Given the description of an element on the screen output the (x, y) to click on. 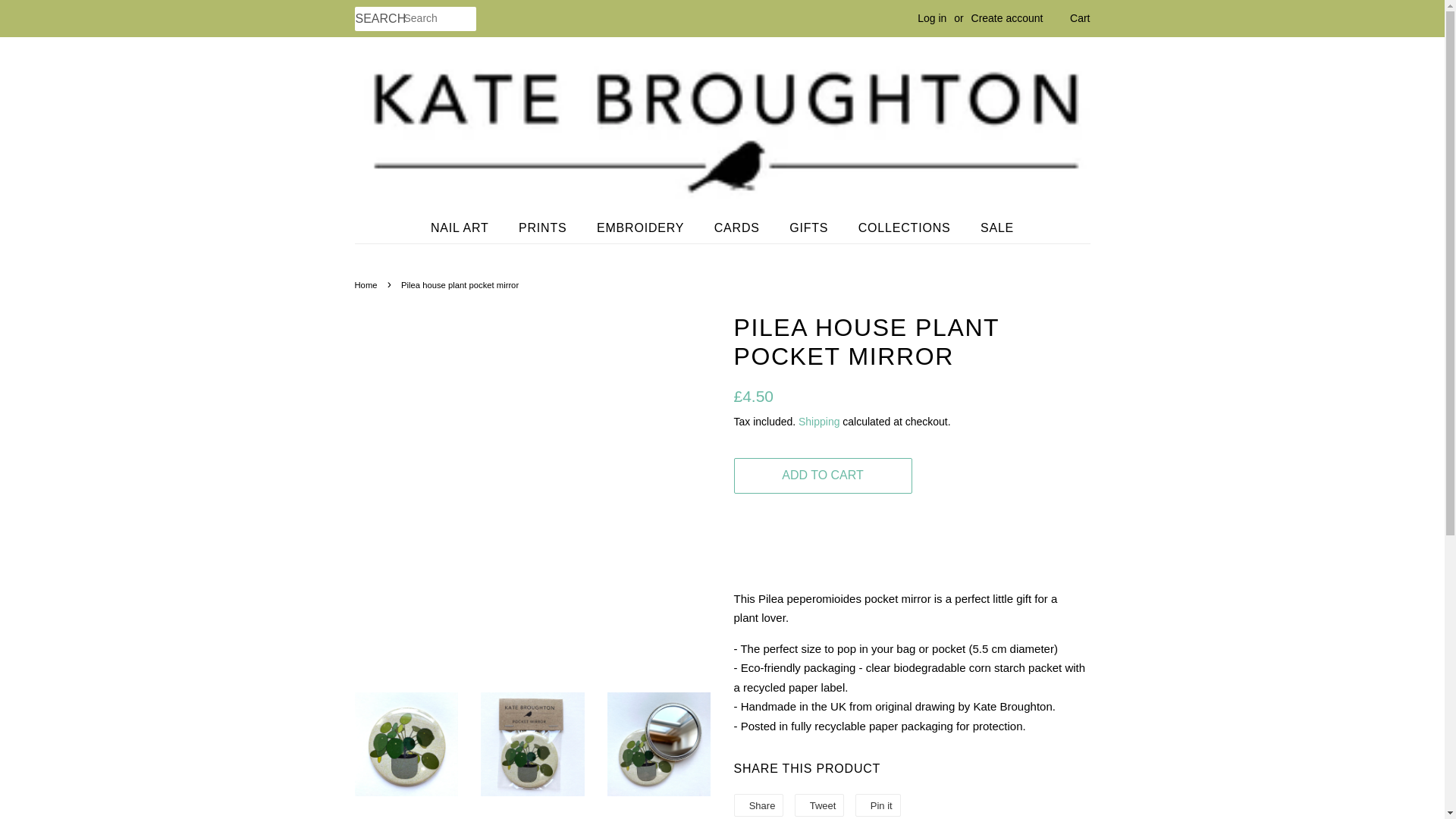
Pin on Pinterest (878, 804)
Create account (1007, 18)
Cart (1079, 18)
Back to the frontpage (368, 284)
Log in (931, 18)
Tweet on Twitter (819, 804)
SEARCH (379, 18)
Share on Facebook (758, 804)
